Given the description of an element on the screen output the (x, y) to click on. 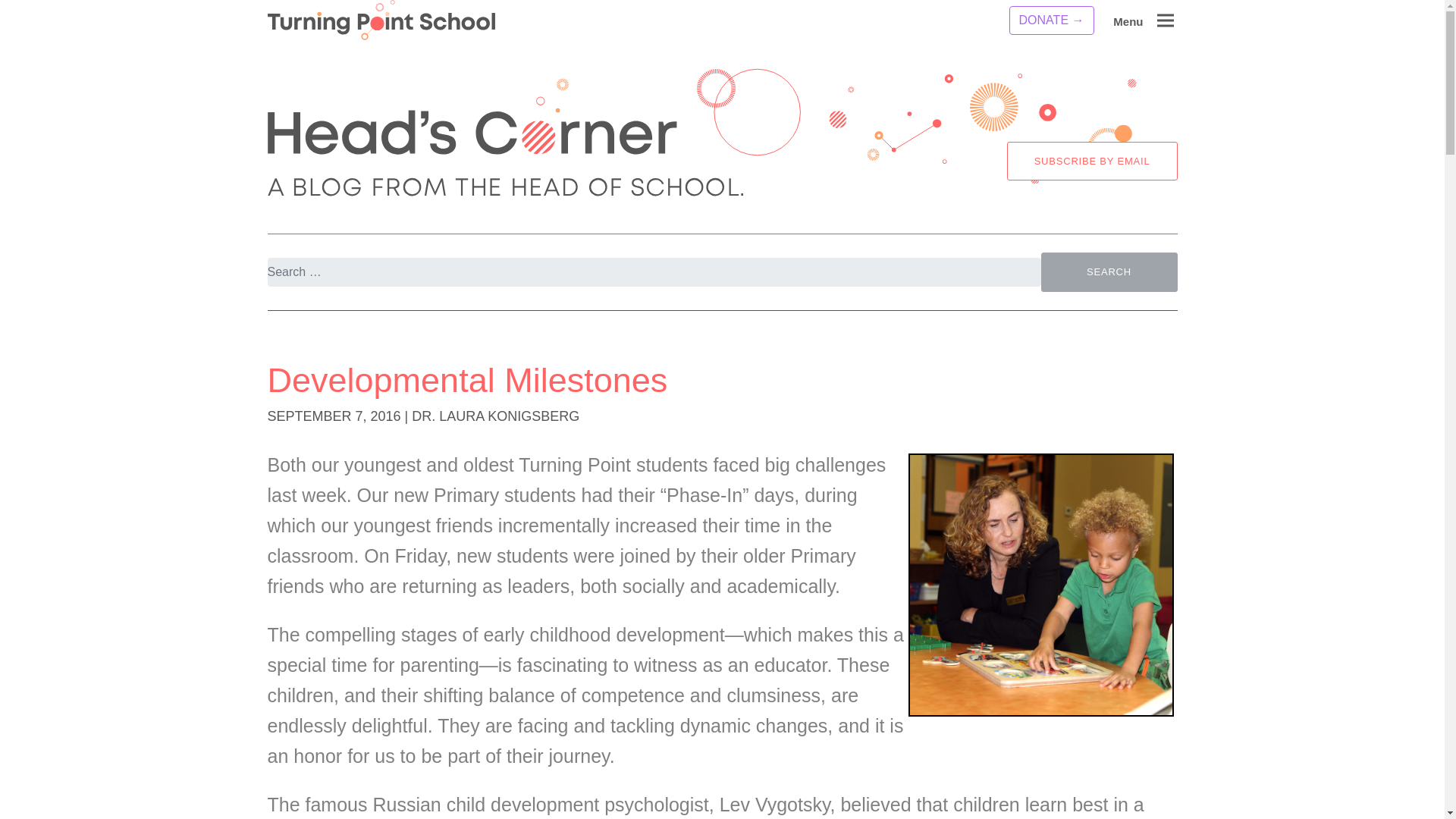
Menu (1165, 15)
Search (1108, 271)
DR. LAURA KONIGSBERG (495, 415)
SUBSCRIBE BY EMAIL (1092, 160)
Search (1108, 271)
Search (29, 13)
Turning Point School (380, 20)
Search (1108, 271)
Head's Corner (1040, 584)
